Given the description of an element on the screen output the (x, y) to click on. 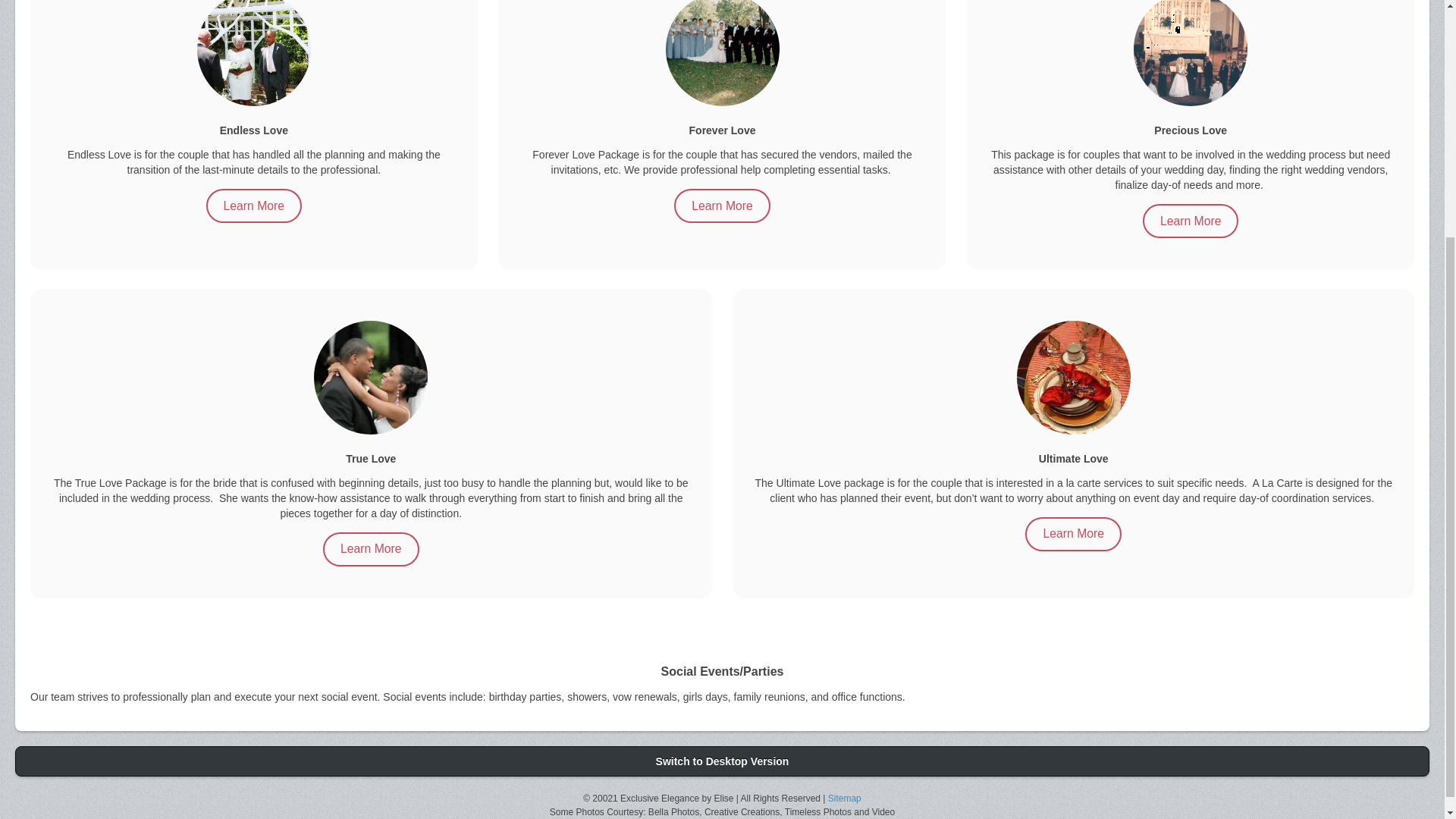
Learn More (254, 205)
Switch to Desktop Version (721, 761)
Sitemap (844, 798)
Learn More (722, 205)
Learn More (1190, 220)
Learn More (1073, 533)
Learn More (371, 548)
